Given the description of an element on the screen output the (x, y) to click on. 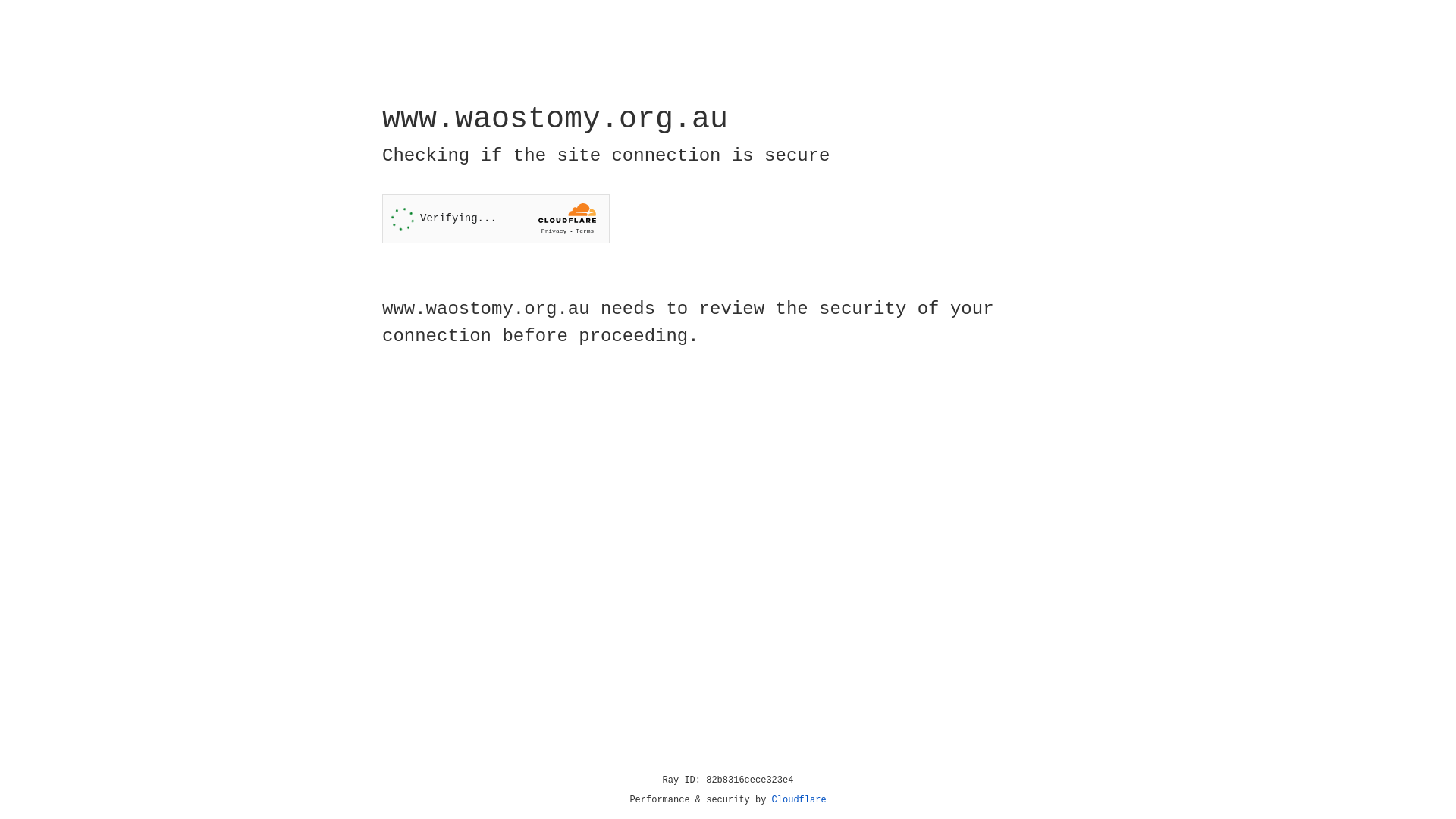
Widget containing a Cloudflare security challenge Element type: hover (495, 218)
Cloudflare Element type: text (798, 799)
